Given the description of an element on the screen output the (x, y) to click on. 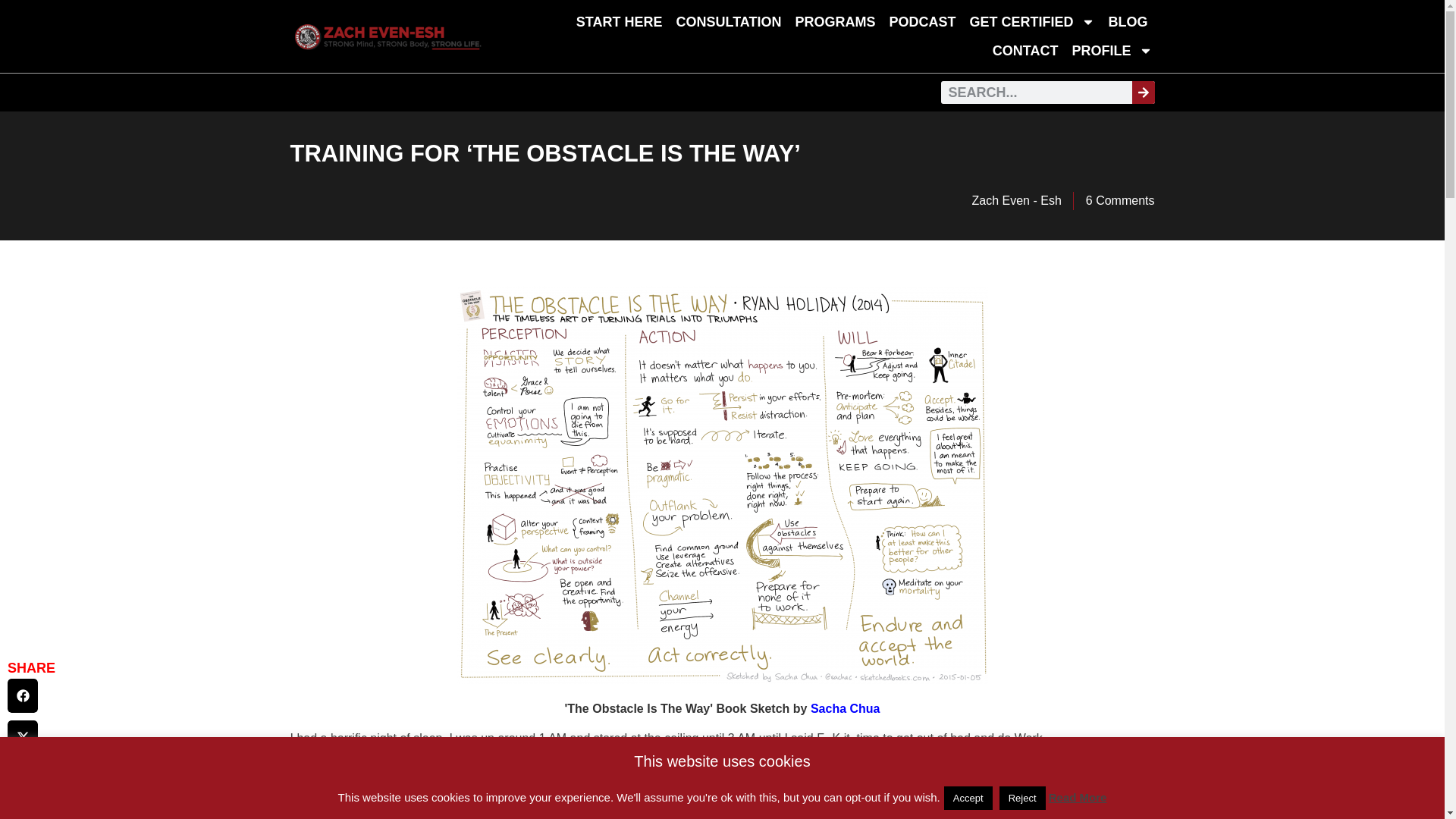
CONSULTATION (727, 21)
PROGRAMS (834, 21)
PROFILE (1111, 50)
BLOG (1127, 21)
PODCAST (922, 21)
CONTACT (1025, 50)
START HERE (619, 21)
GET CERTIFIED (1031, 21)
